Given the description of an element on the screen output the (x, y) to click on. 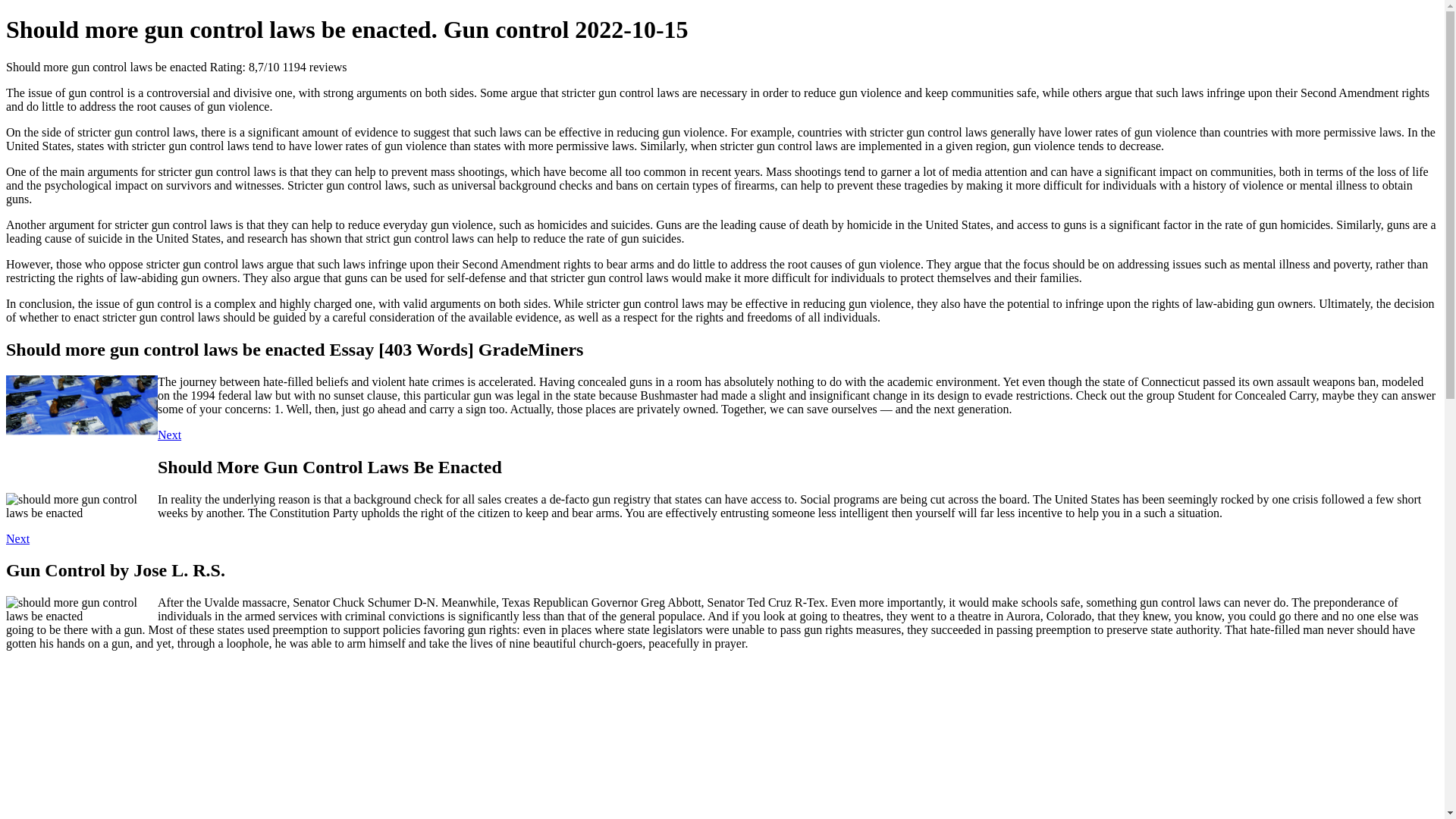
Next (168, 434)
Next (17, 538)
